Given the description of an element on the screen output the (x, y) to click on. 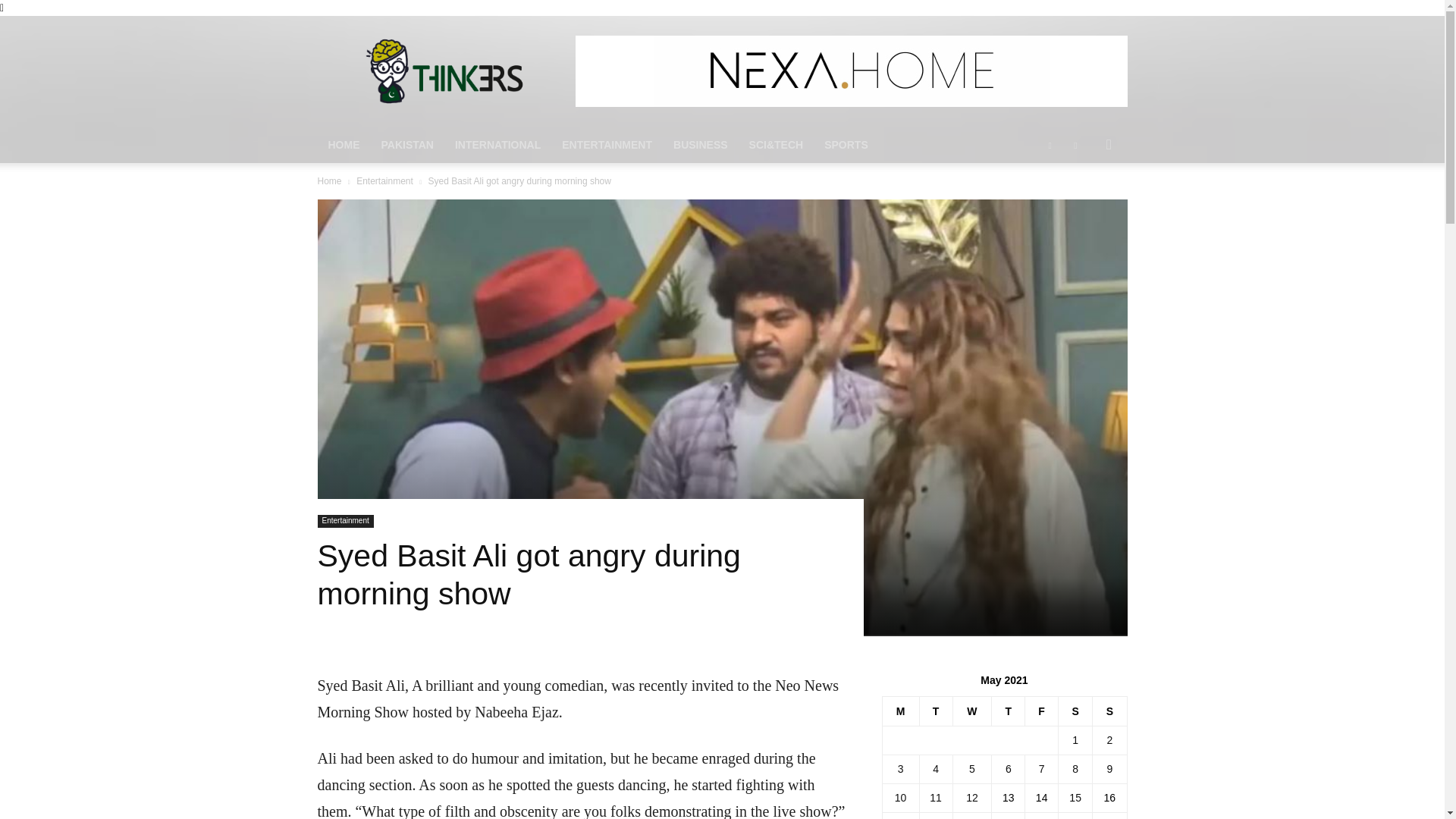
PAKISTAN (406, 144)
Search (1085, 205)
HOME (343, 144)
ENTERTAINMENT (606, 144)
Entertainment (344, 521)
BUSINESS (700, 144)
INTERNATIONAL (497, 144)
View all posts in Entertainment (384, 181)
Entertainment (384, 181)
Home (328, 181)
SPORTS (846, 144)
